Given the description of an element on the screen output the (x, y) to click on. 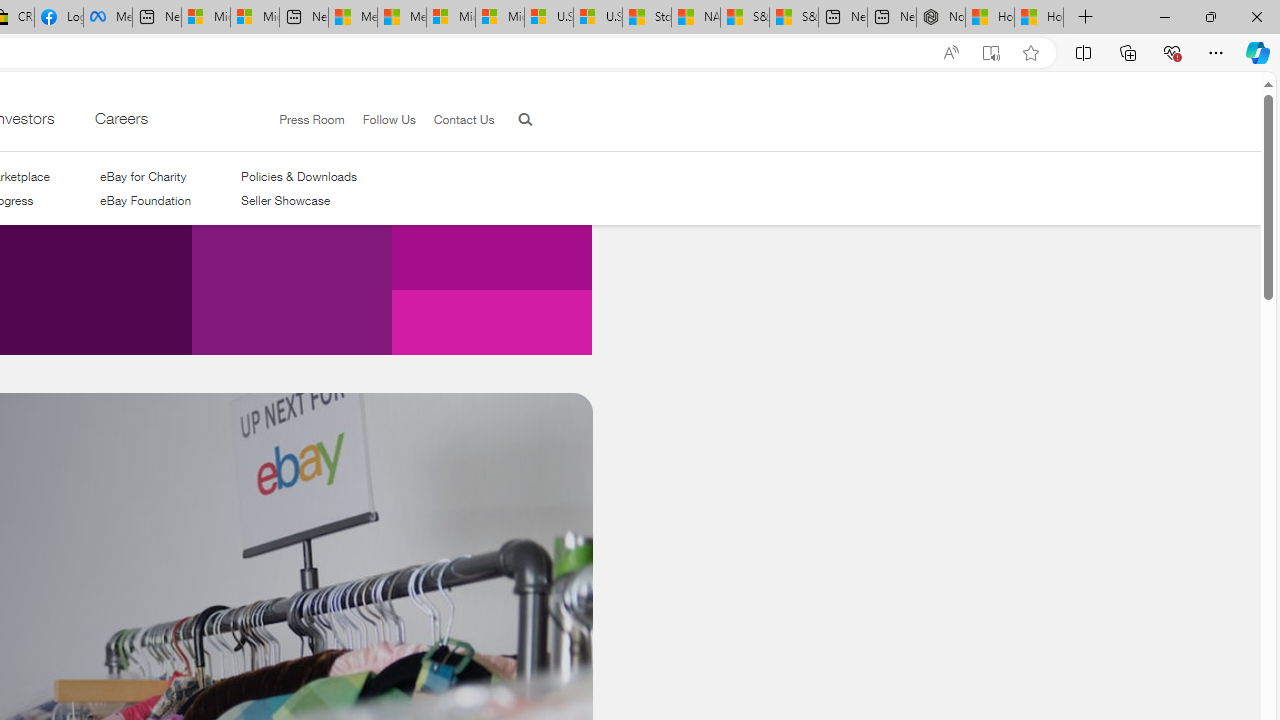
eBay Foundation (145, 201)
eBay for Charity (142, 176)
Press Room (303, 120)
Seller Showcase (299, 201)
Log into Facebook (58, 17)
Enter Immersive Reader (F9) (991, 53)
Seller Showcase (285, 200)
